Given the description of an element on the screen output the (x, y) to click on. 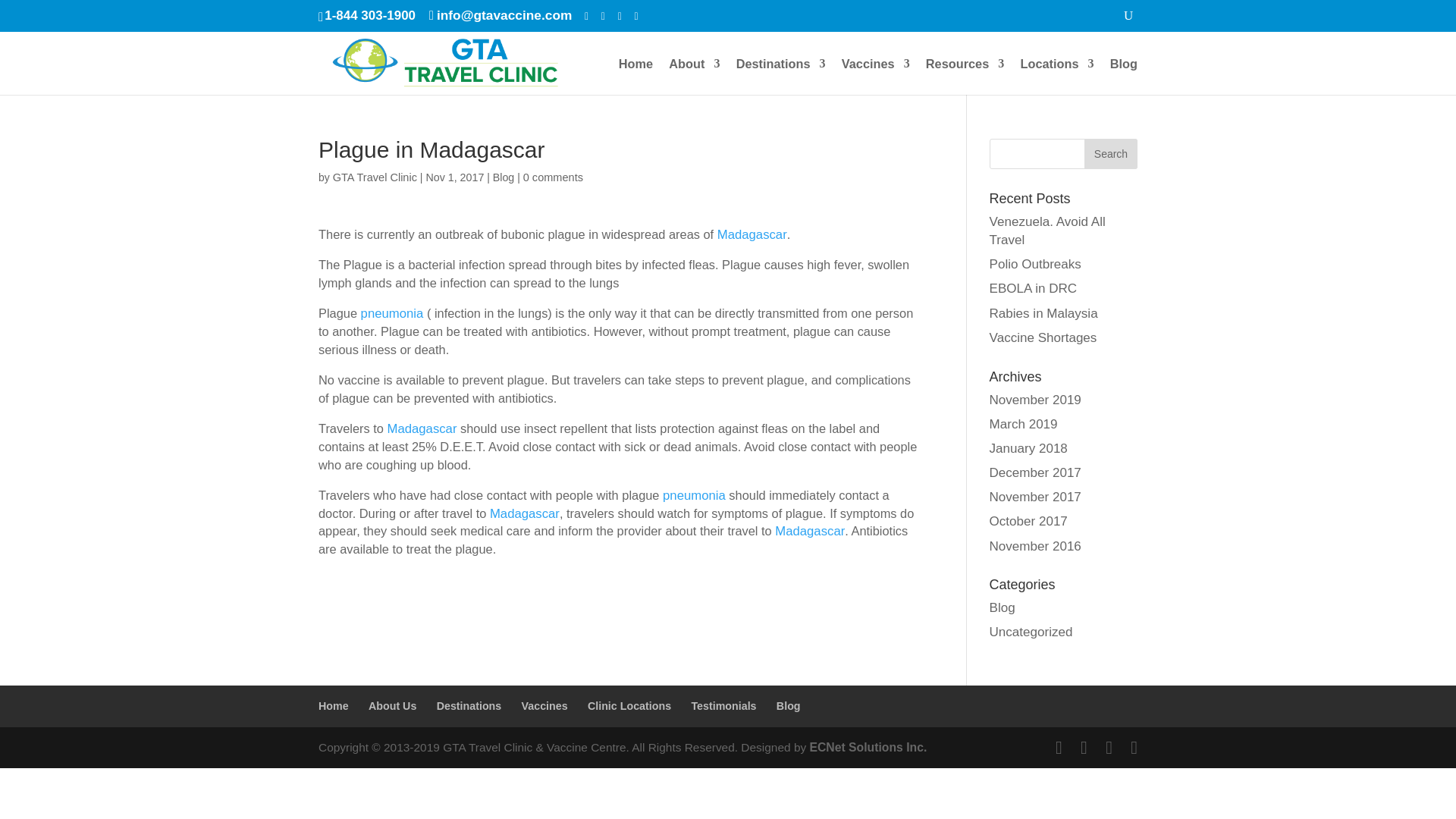
About (693, 76)
Vaccines (875, 76)
Home (635, 76)
Resources (965, 76)
Search (1110, 153)
Destinations (780, 76)
Posts by GTA Travel Clinic (374, 177)
